Given the description of an element on the screen output the (x, y) to click on. 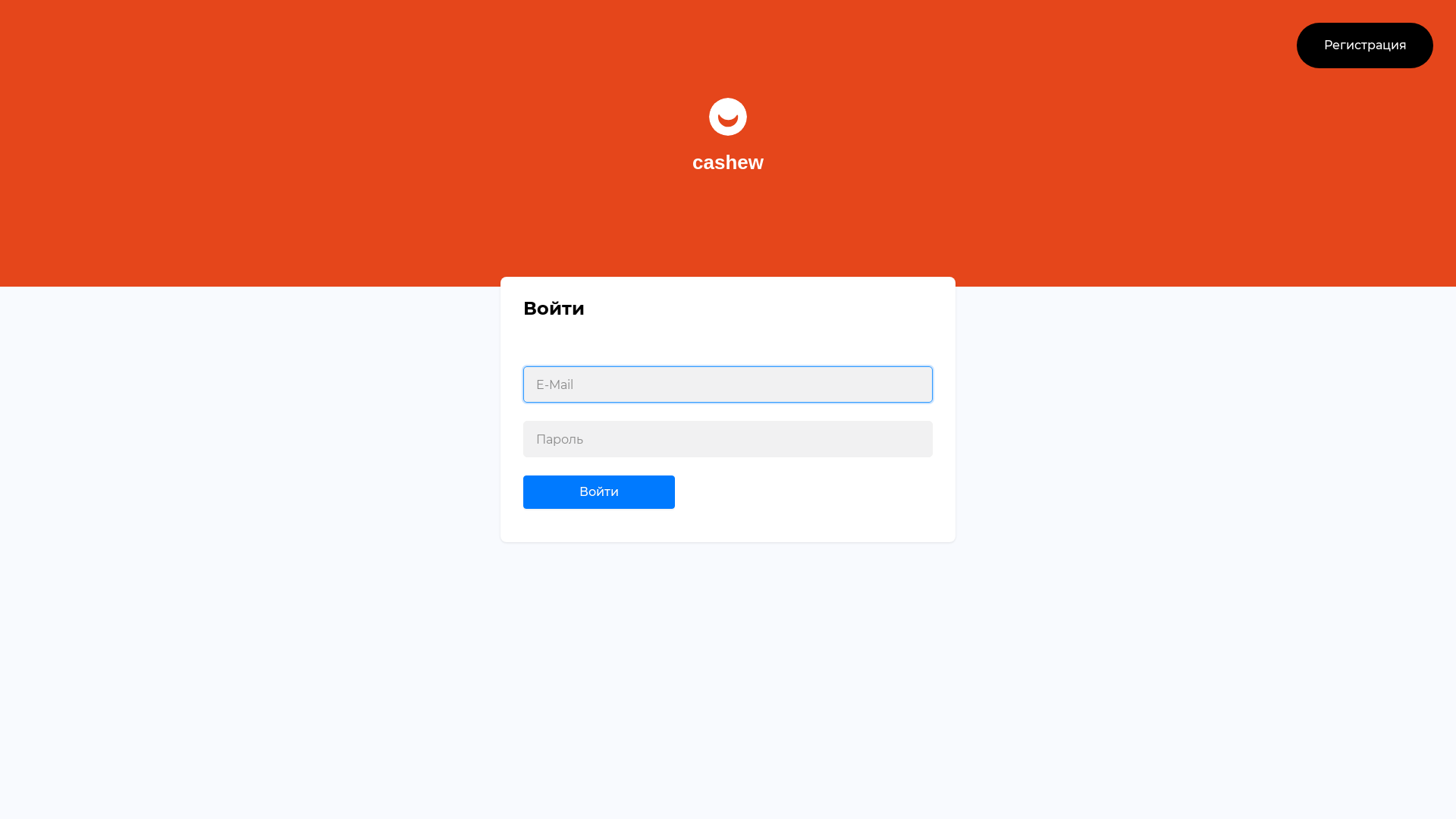
cashew Element type: text (727, 142)
